Given the description of an element on the screen output the (x, y) to click on. 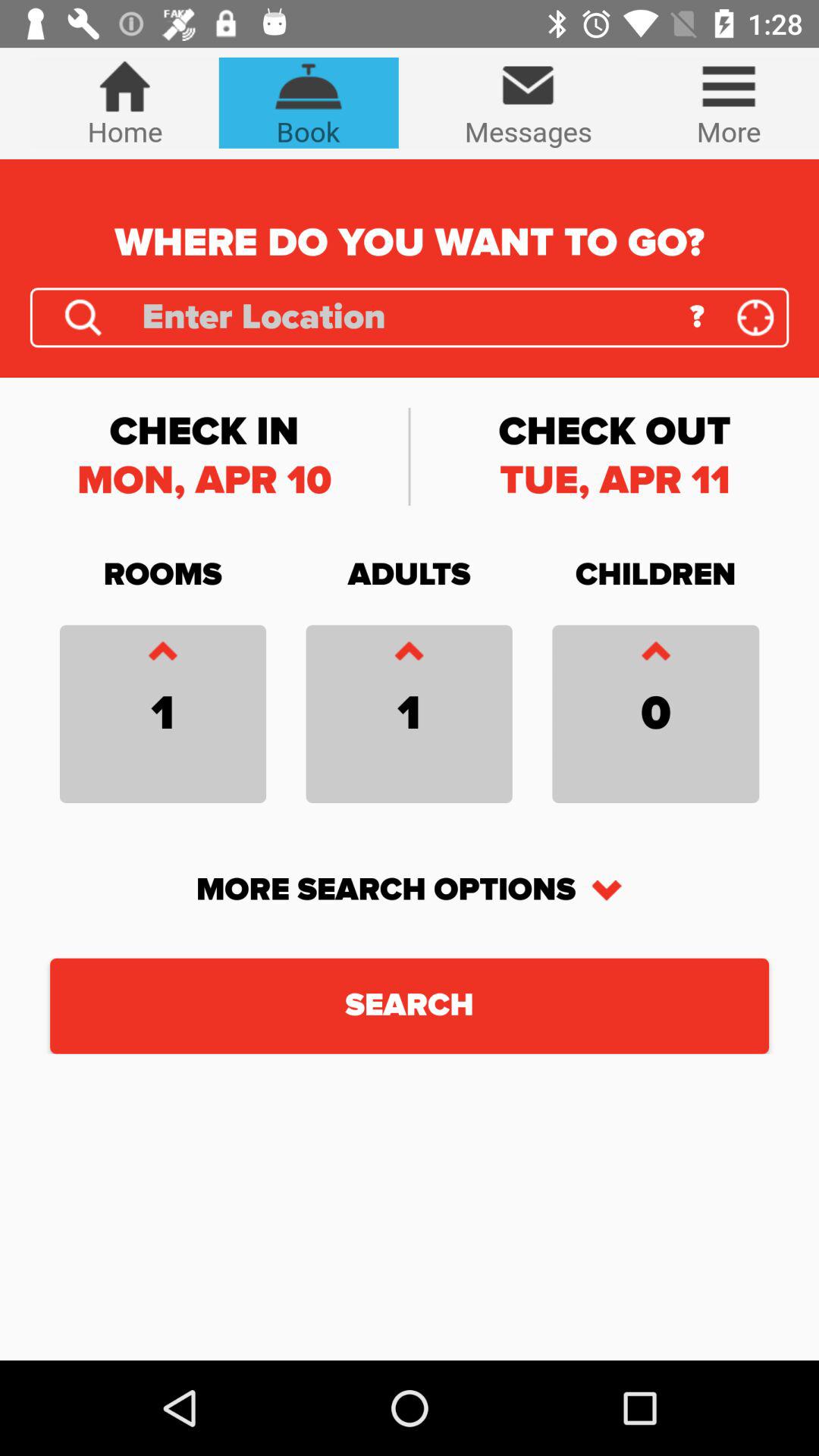
turn on the icon next to the more icon (528, 103)
